Given the description of an element on the screen output the (x, y) to click on. 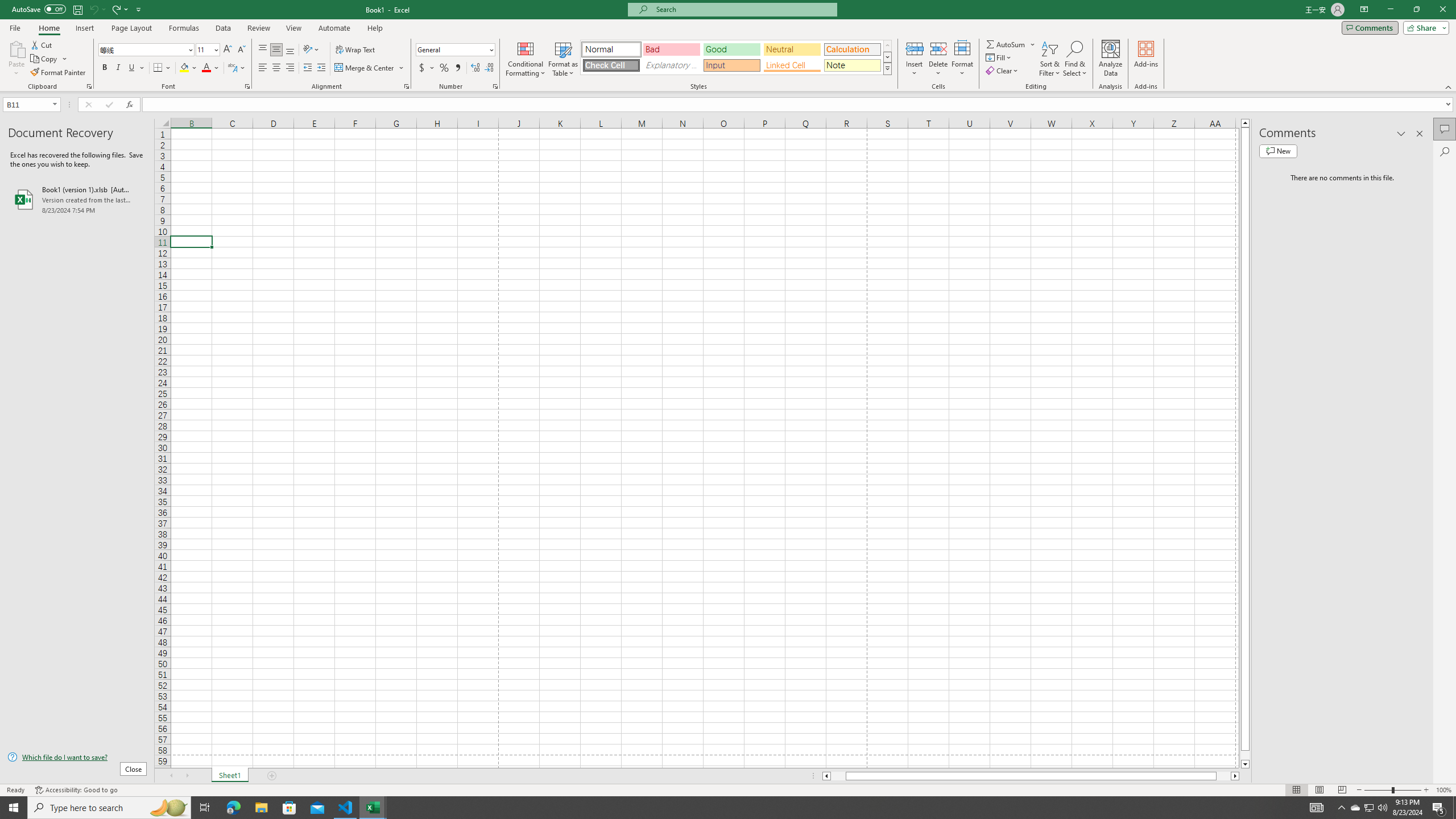
Calculation (852, 49)
Neutral (791, 49)
Row Down (887, 56)
Middle Align (276, 49)
Bottom Align (290, 49)
Font (142, 49)
Conditional Formatting (525, 58)
Format Cell Number (494, 85)
Clear (1003, 69)
Search (1444, 151)
